Given the description of an element on the screen output the (x, y) to click on. 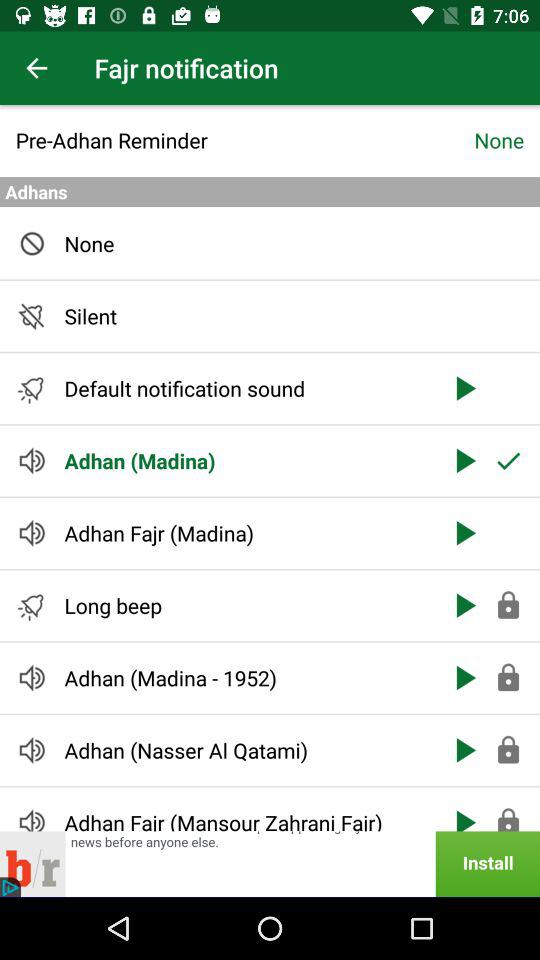
press the icon above pre-adhan reminder (36, 68)
